Given the description of an element on the screen output the (x, y) to click on. 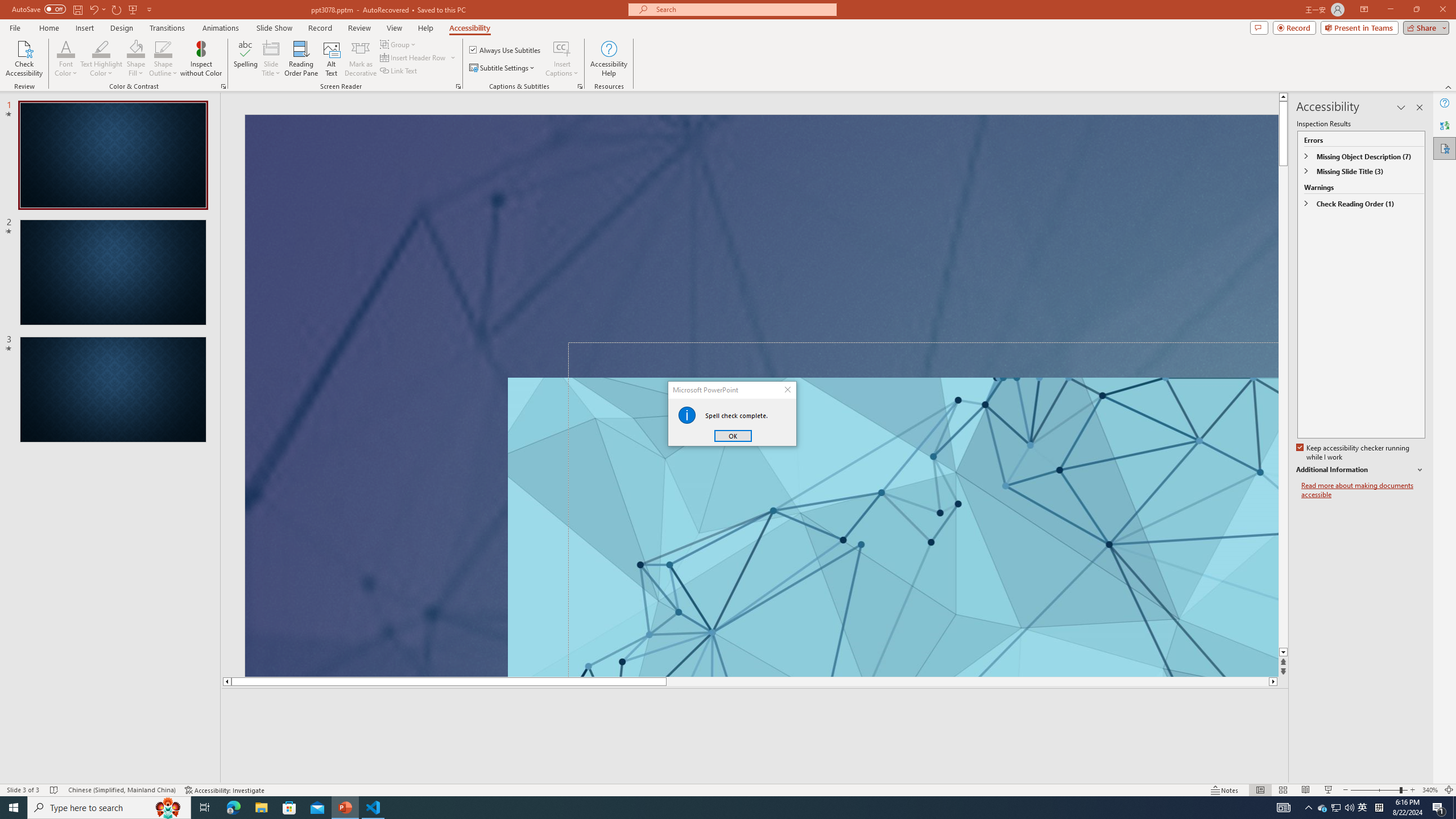
Additional Information (1360, 469)
Link Text (399, 69)
Line down (1283, 652)
Color & Contrast (223, 85)
Microsoft Edge (233, 807)
Subtitle Settings (502, 67)
Shape Outline (163, 58)
Visual Studio Code - 1 running window (373, 807)
Screen Reader (458, 85)
